Given the description of an element on the screen output the (x, y) to click on. 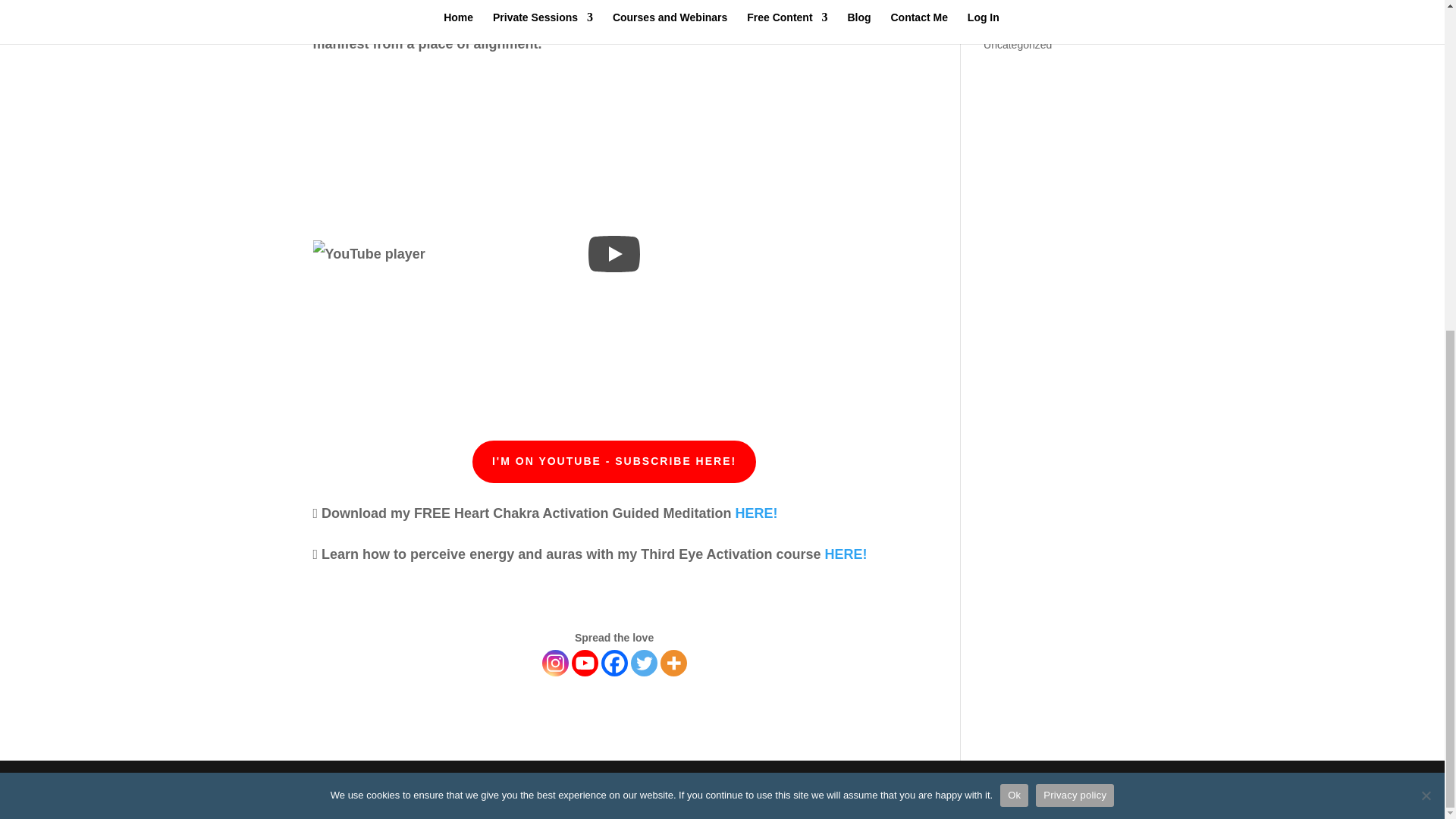
HERE! (756, 513)
Youtube (585, 663)
Facebook (614, 663)
No (1425, 246)
More (674, 663)
Twitter (644, 663)
Instagram (555, 663)
I'M ON YOUTUBE - SUBSCRIBE HERE! (613, 461)
